Given the description of an element on the screen output the (x, y) to click on. 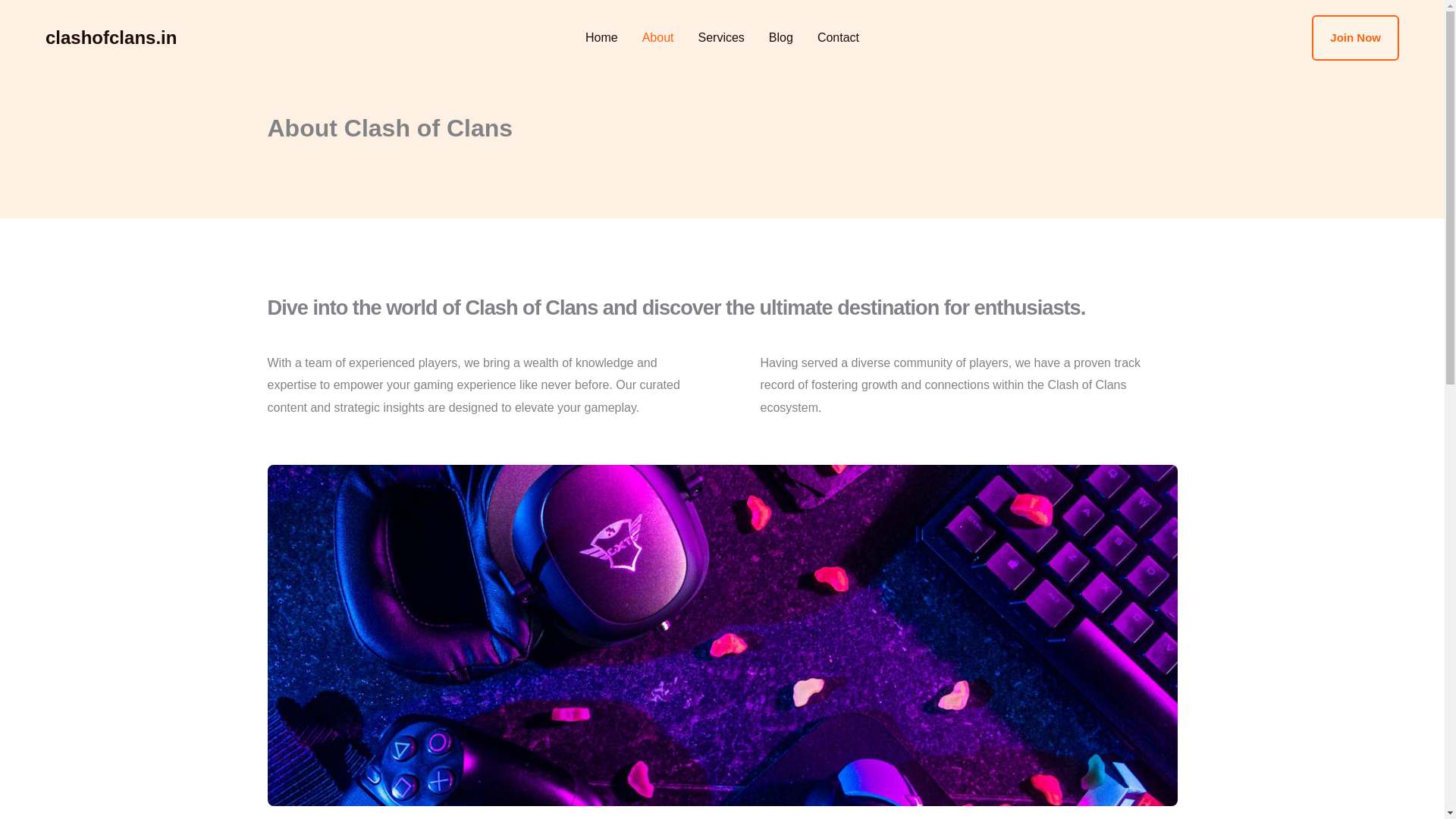
About (657, 37)
Services (720, 37)
clashofclans.in (110, 37)
Join Now (1355, 37)
Contact (837, 37)
Blog (781, 37)
Home (601, 37)
